Given the description of an element on the screen output the (x, y) to click on. 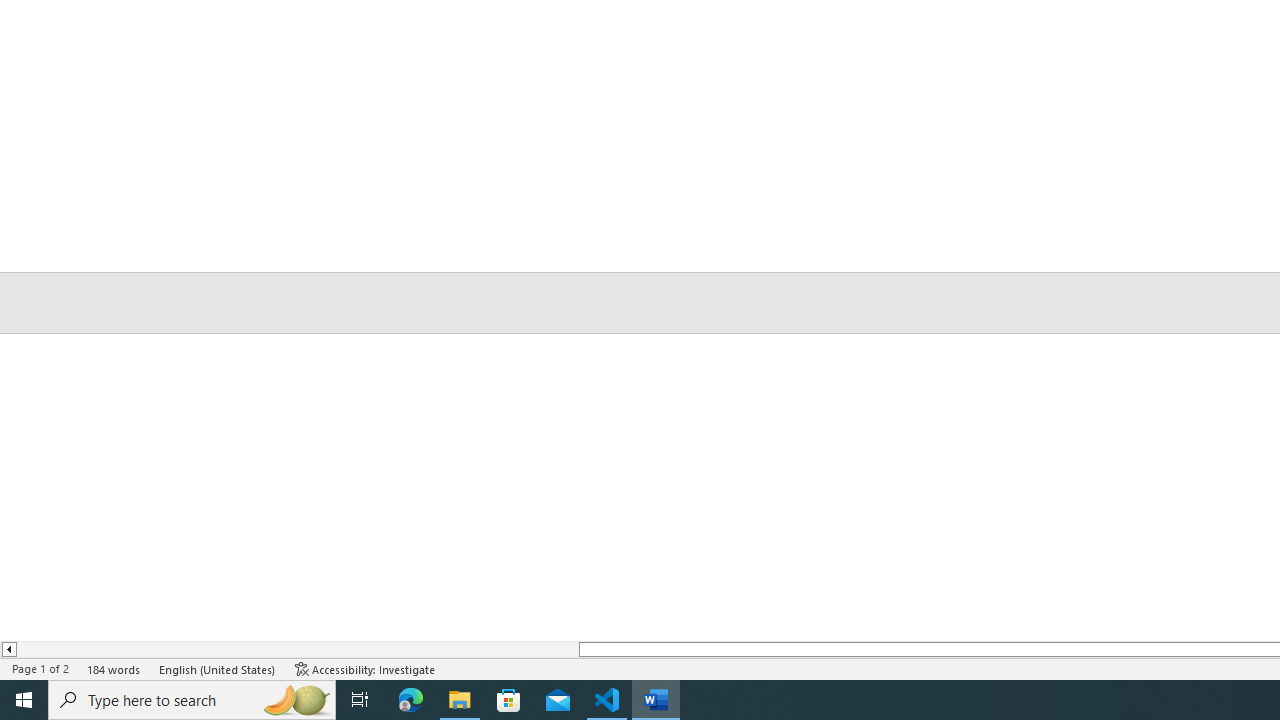
Task View (359, 699)
Microsoft Edge (411, 699)
Column left (8, 649)
Start (24, 699)
Page Number Page 1 of 2 (39, 668)
Microsoft Store (509, 699)
Word - 1 running window (656, 699)
Type here to search (191, 699)
File Explorer - 1 running window (460, 699)
Visual Studio Code - 1 running window (607, 699)
Page left (297, 649)
Search highlights icon opens search home window (295, 699)
